Given the description of an element on the screen output the (x, y) to click on. 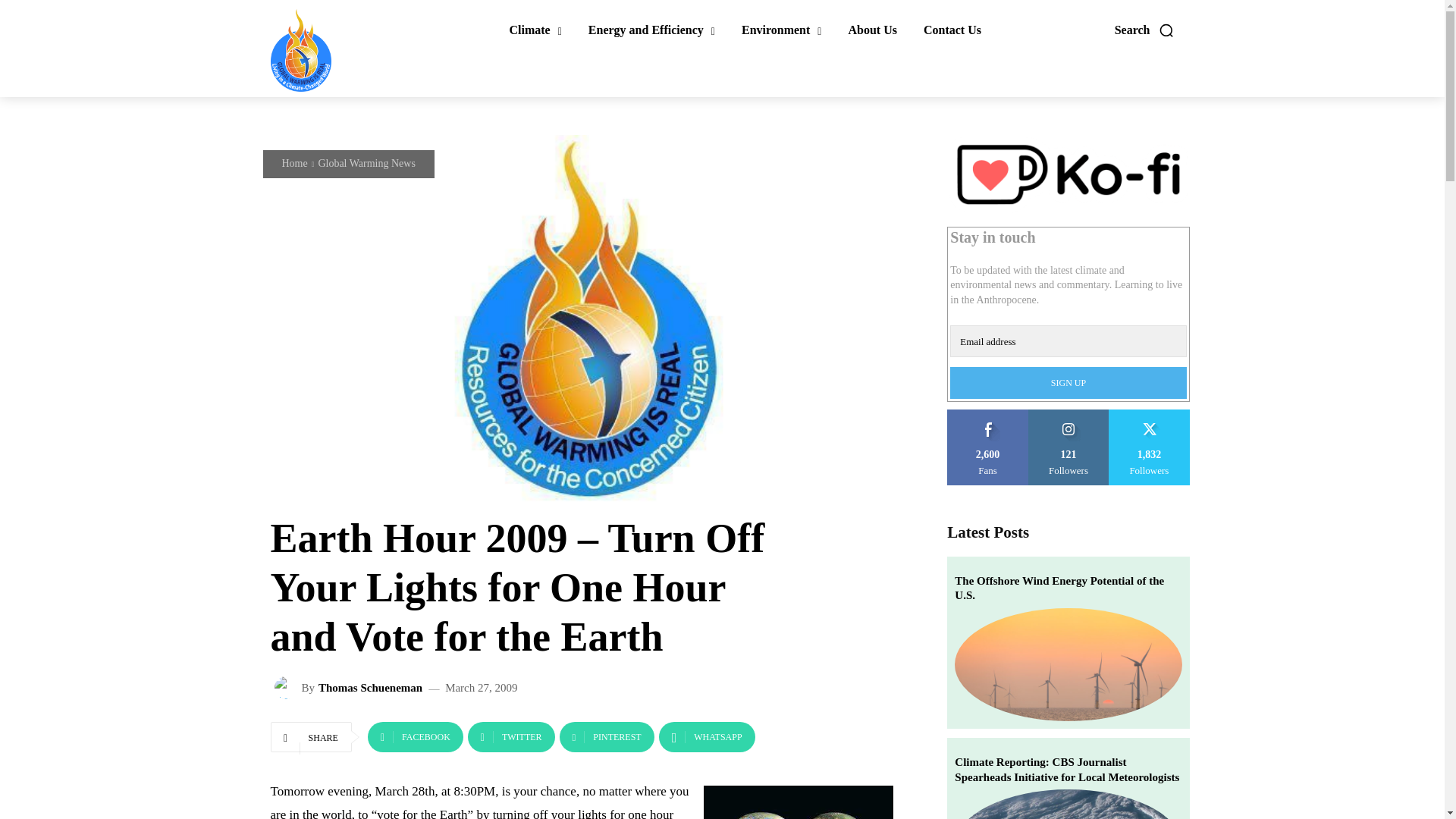
Climate (534, 30)
Search (1144, 30)
